Given the description of an element on the screen output the (x, y) to click on. 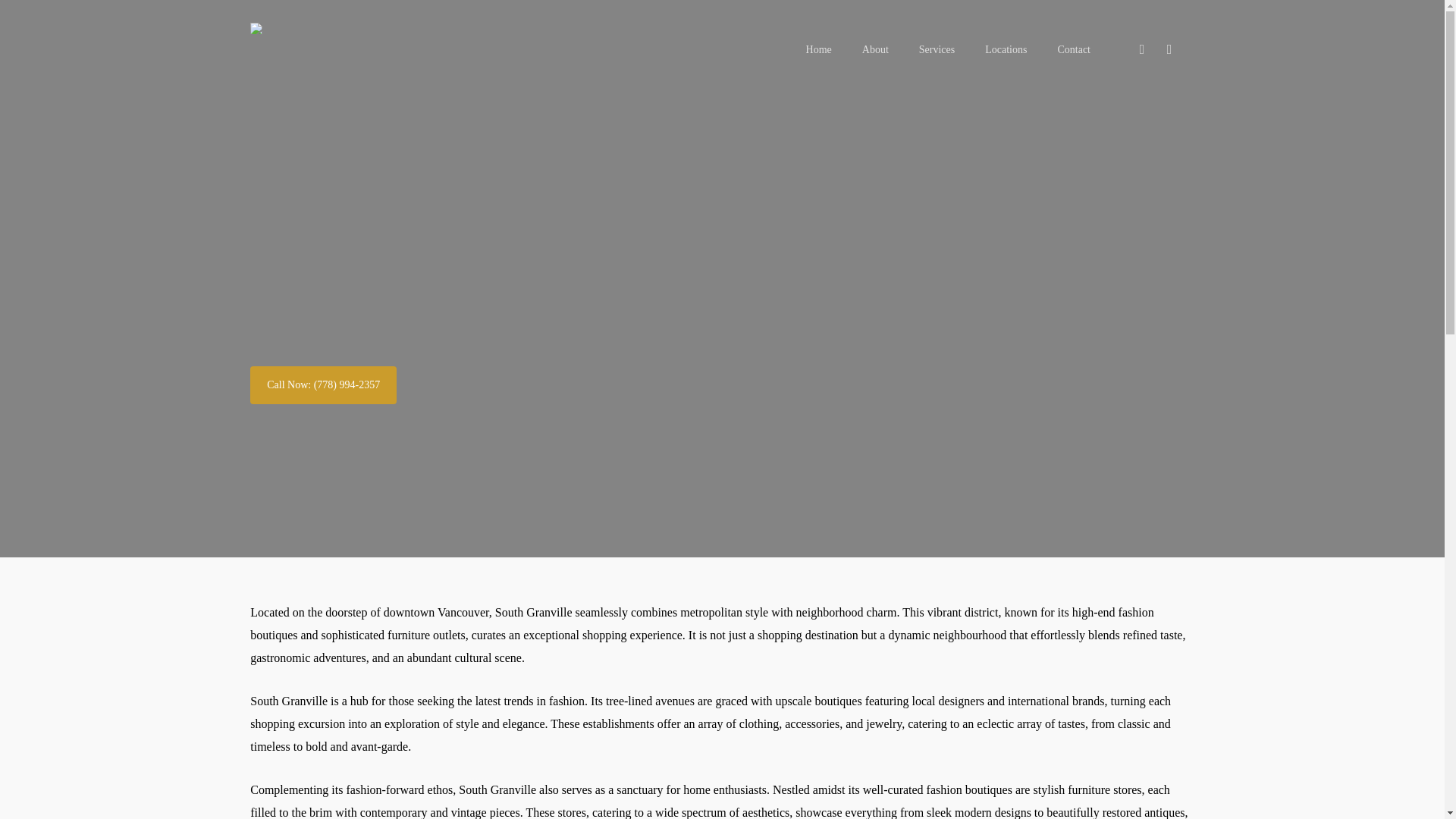
Services (936, 49)
Home (818, 49)
Locations (1005, 49)
About (874, 49)
